Given the description of an element on the screen output the (x, y) to click on. 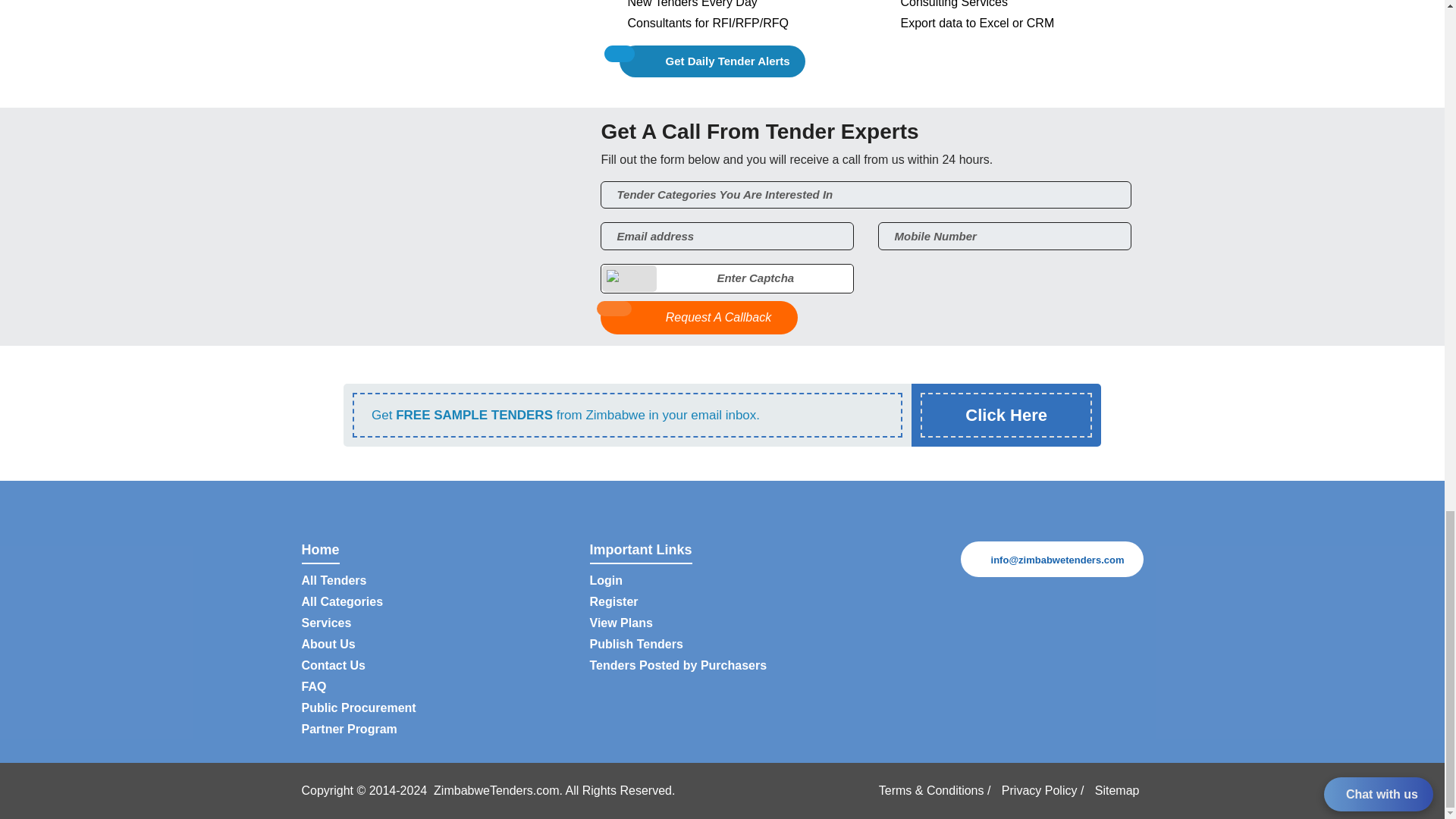
All Categories (342, 601)
Services (326, 622)
Get Daily Tender Alerts (712, 61)
Request A Callback (698, 317)
All Tenders (333, 580)
Click Here (1006, 415)
